Given the description of an element on the screen output the (x, y) to click on. 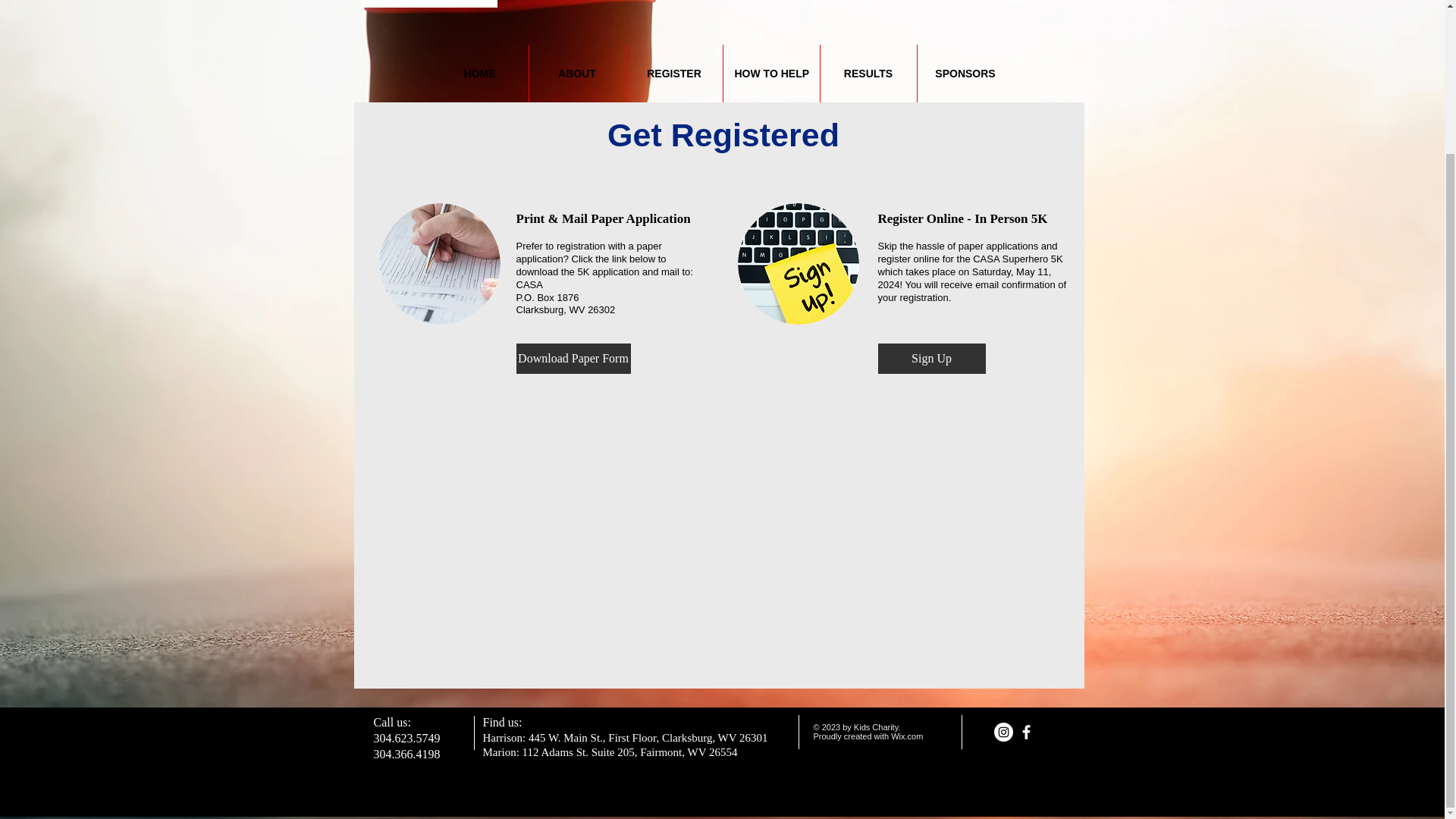
RESULTS (869, 73)
Wix.com (907, 736)
try.png (1015, 0)
Download Paper Form (572, 358)
HOW TO HELP (771, 73)
REGISTER (674, 73)
Sign Up (931, 358)
SPONSORS (965, 73)
HOME (478, 73)
ABOUT (577, 73)
